Given the description of an element on the screen output the (x, y) to click on. 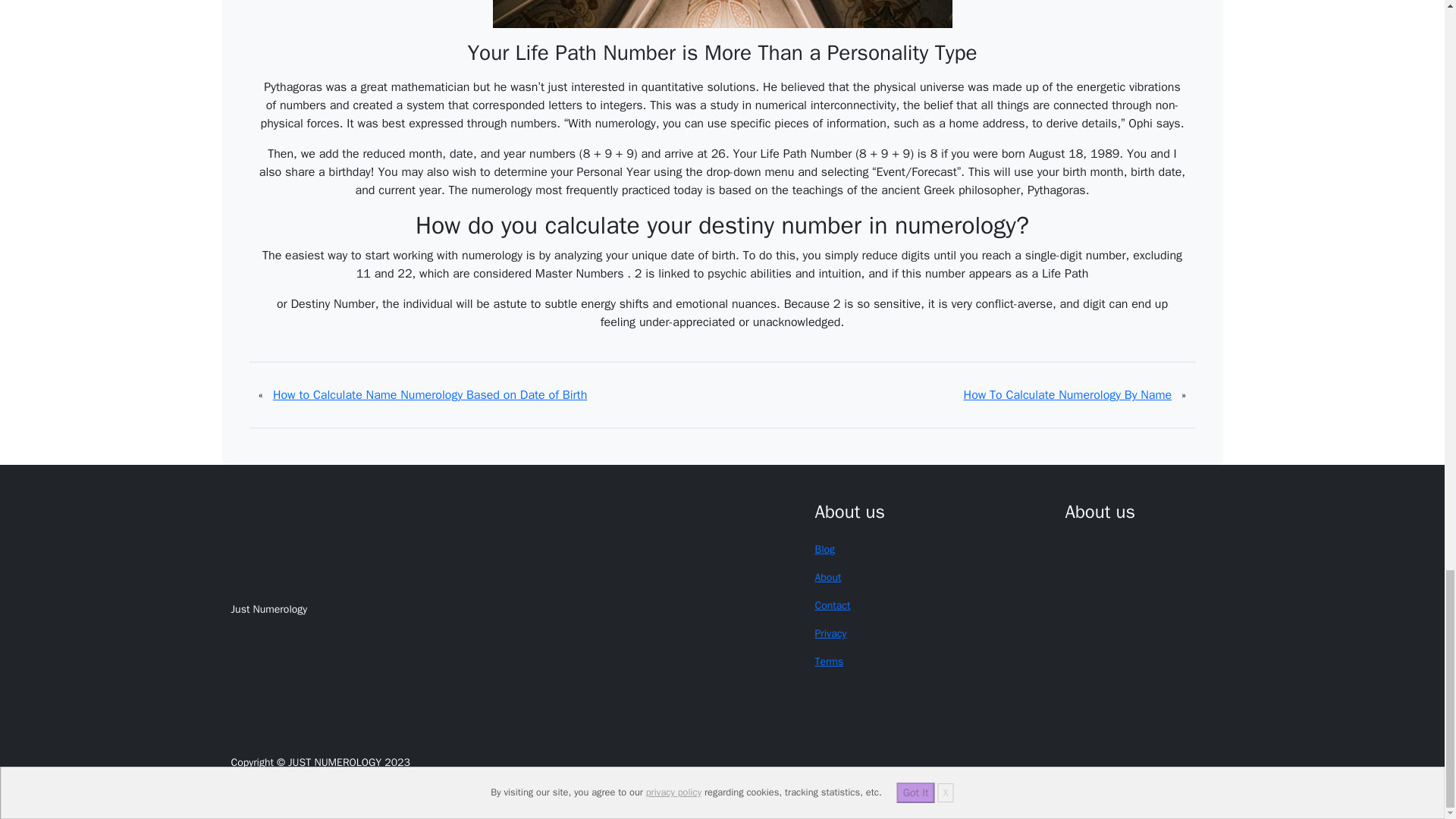
How to Calculate Name Numerology Based on Date of Birth (429, 394)
posistorather yoffa serialthys maliforeims (829, 633)
noelind sailess fowarten (823, 549)
Contact (831, 604)
Blog (823, 549)
Terms (828, 661)
How To Calculate Numerology By Name (1067, 394)
Privacy (829, 633)
About (827, 576)
